Given the description of an element on the screen output the (x, y) to click on. 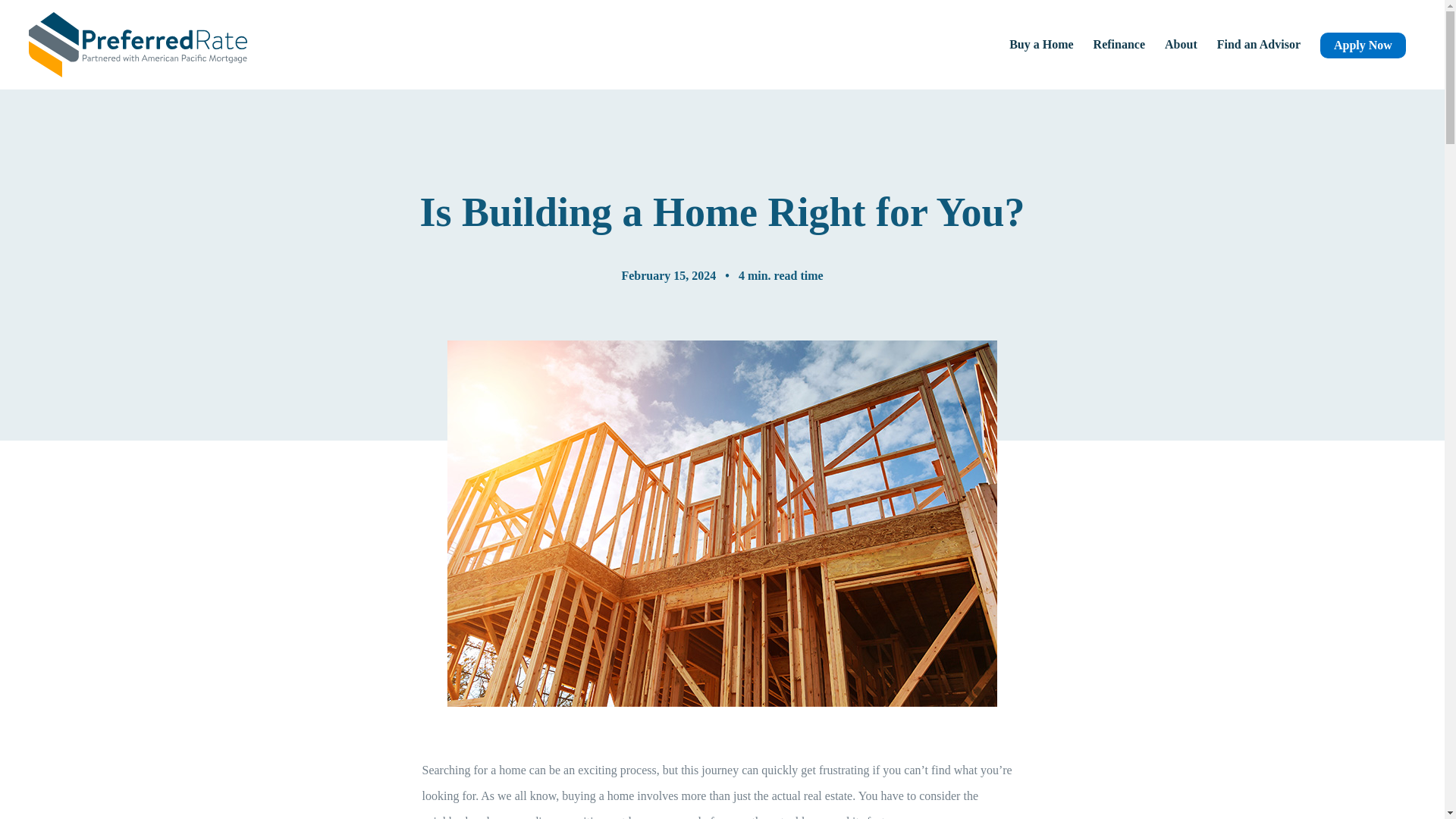
Find an Advisor (1258, 44)
Apply Now (1362, 44)
Buy a Home (1040, 44)
